Given the description of an element on the screen output the (x, y) to click on. 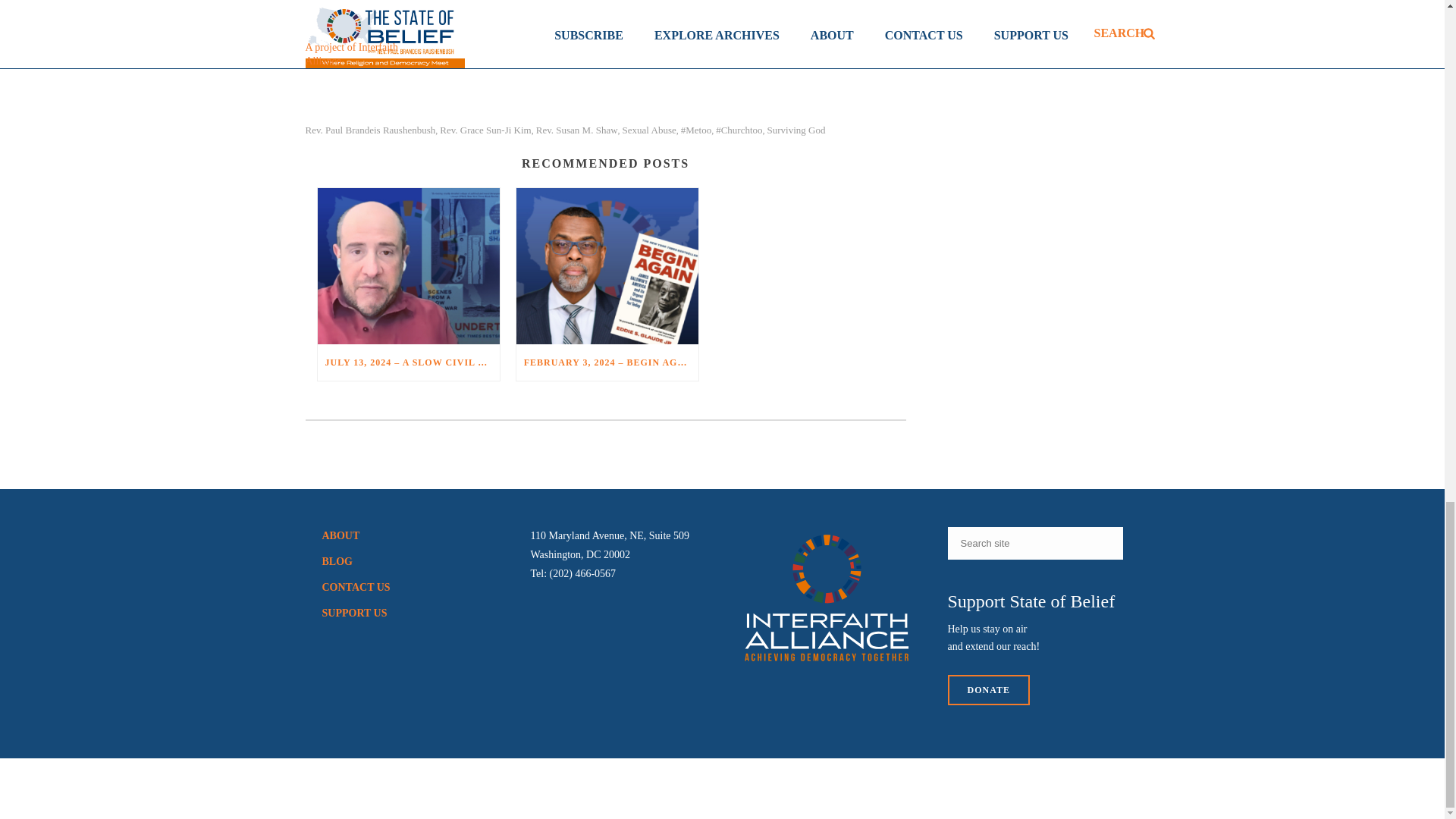
DONATE (988, 689)
Spotify (645, 0)
Apple (608, 0)
